Given the description of an element on the screen output the (x, y) to click on. 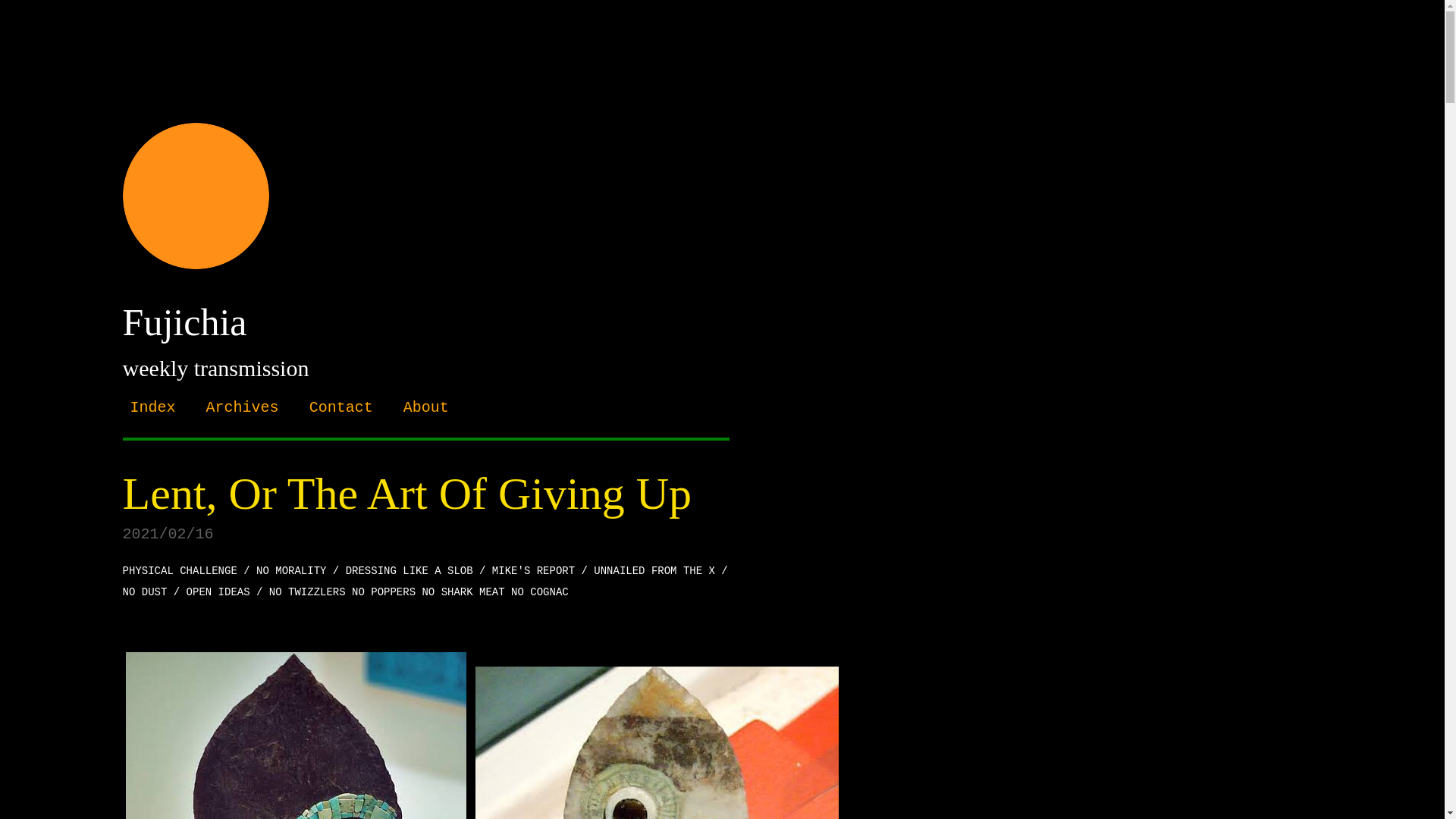
Index (153, 407)
Contact (340, 407)
Archives (242, 407)
About (425, 407)
